Given the description of an element on the screen output the (x, y) to click on. 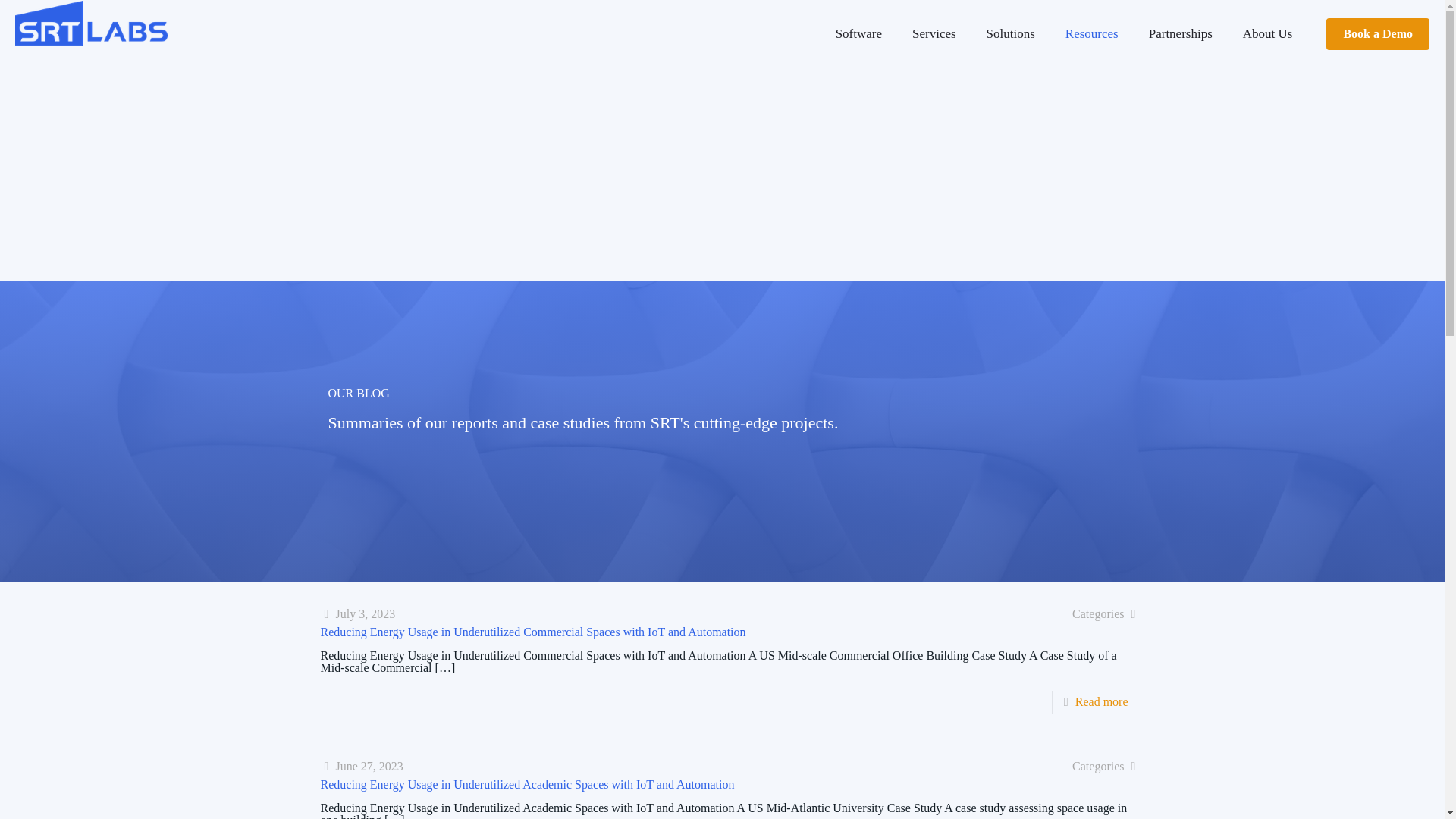
About Us (1267, 33)
Solutions (1010, 33)
Book a Demo (1377, 33)
Read more (1101, 701)
Resources (1091, 33)
Partnerships (1180, 33)
Services (933, 33)
Software (858, 33)
